Given the description of an element on the screen output the (x, y) to click on. 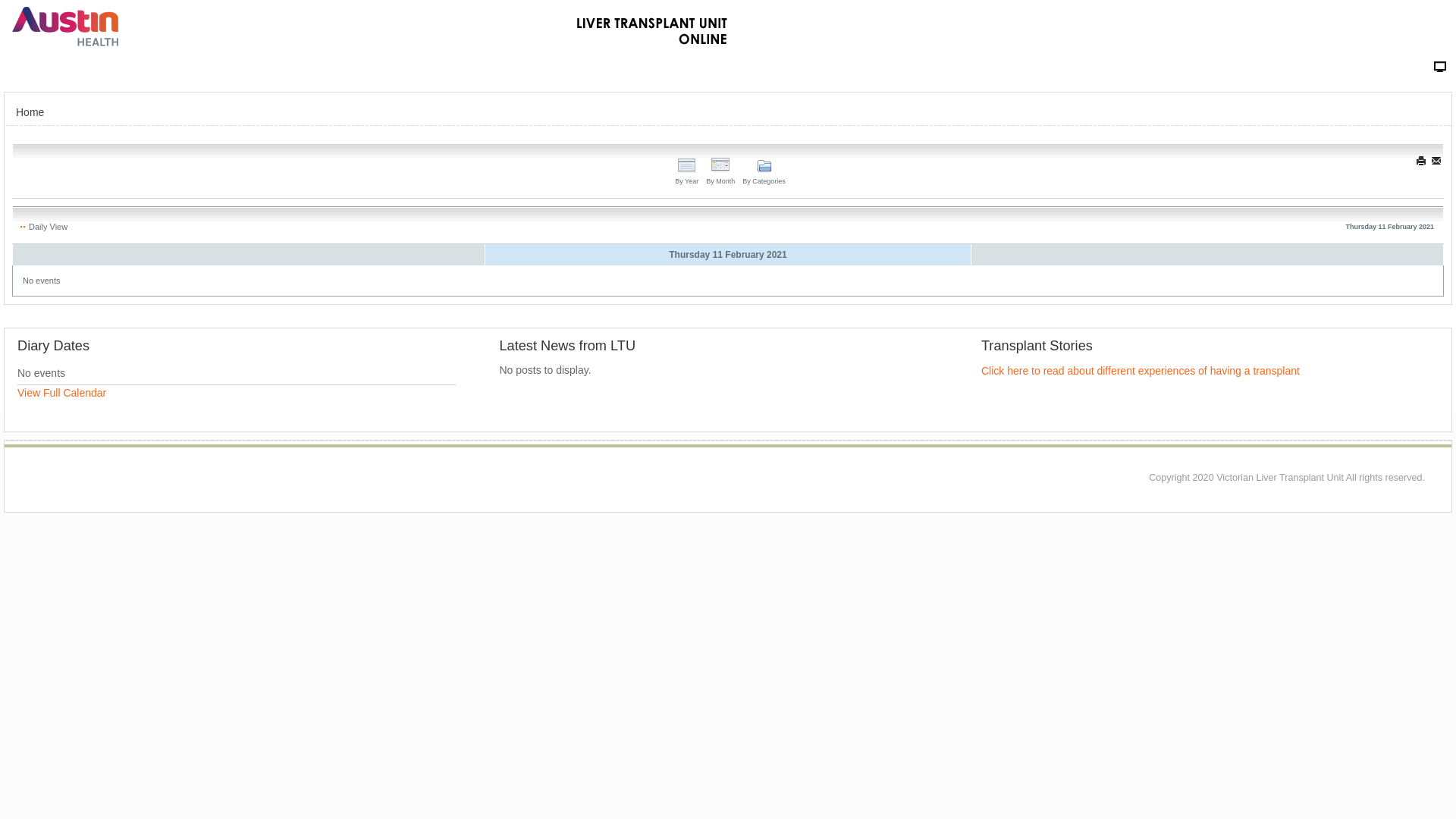
EMAIL Element type: hover (1436, 160)
By Month Element type: text (720, 173)
Print Element type: hover (1421, 160)
By Categories Element type: text (763, 173)
By Year Element type: text (686, 173)
View Full Calendar Element type: text (61, 392)
